Given the description of an element on the screen output the (x, y) to click on. 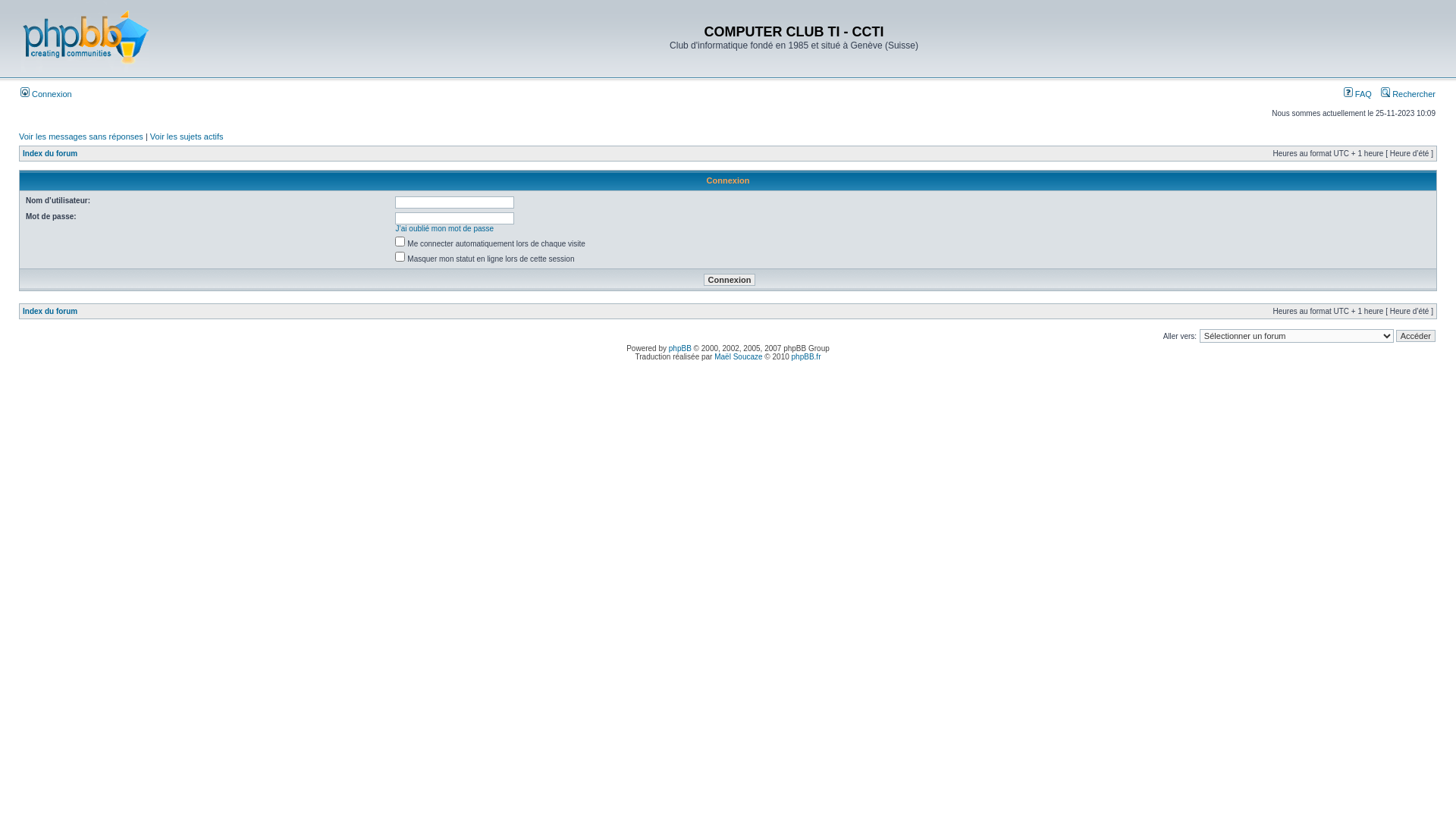
phpBB.fr Element type: text (806, 356)
FAQ Element type: text (1357, 93)
Connexion Element type: text (729, 279)
Voir les sujets actifs Element type: text (186, 136)
Index du forum Element type: text (49, 153)
Connexion Element type: text (46, 93)
Rechercher Element type: text (1407, 93)
phpBB Element type: text (679, 348)
Index du forum Element type: text (49, 311)
